Given the description of an element on the screen output the (x, y) to click on. 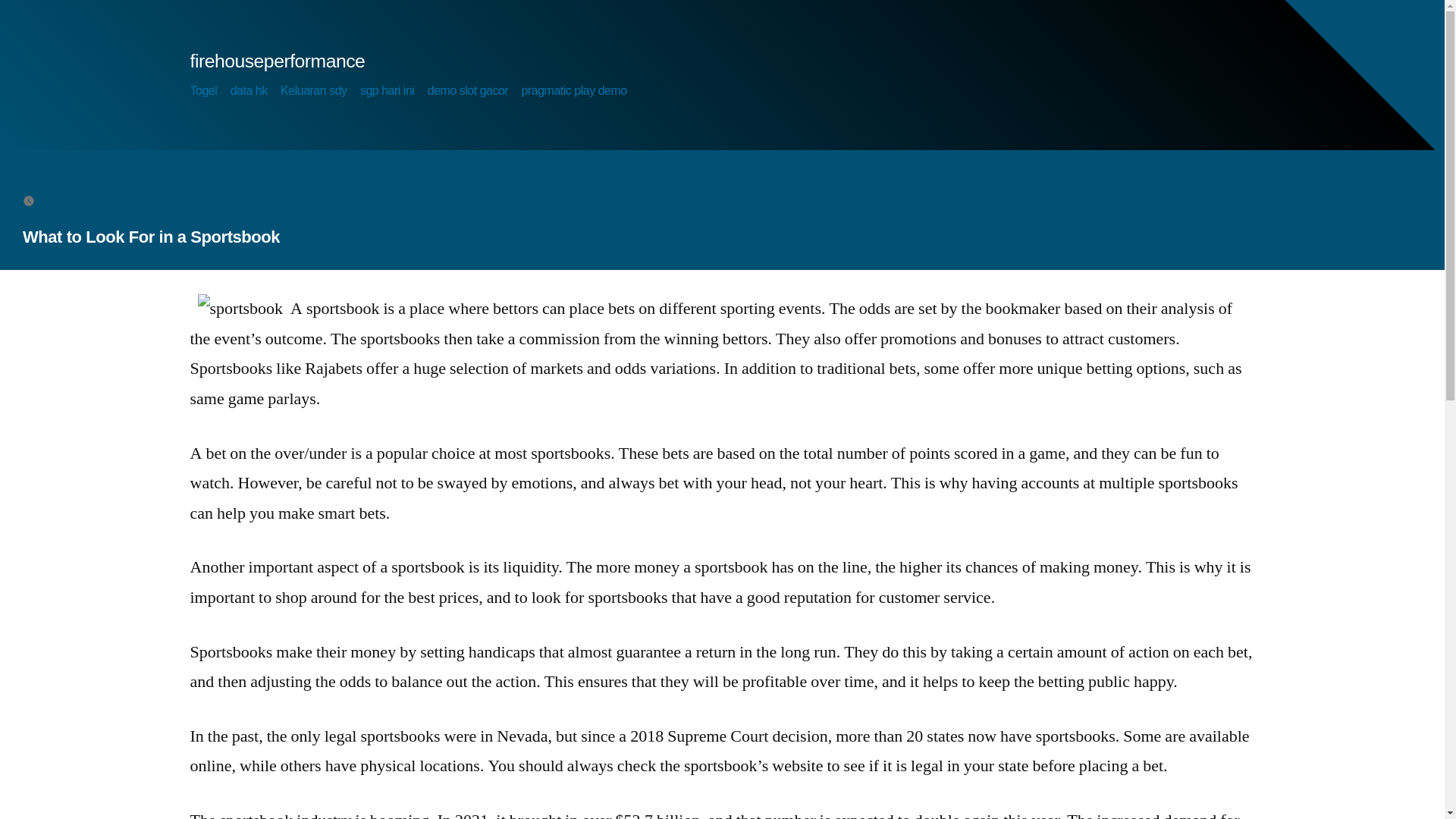
demo slot gacor (468, 90)
pragmatic play demo (574, 90)
sgp hari ini (386, 90)
Keluaran sdy (313, 90)
June 17, 2023 (78, 199)
data hk (248, 90)
Togel (202, 90)
firehouseperformance (277, 60)
